Given the description of an element on the screen output the (x, y) to click on. 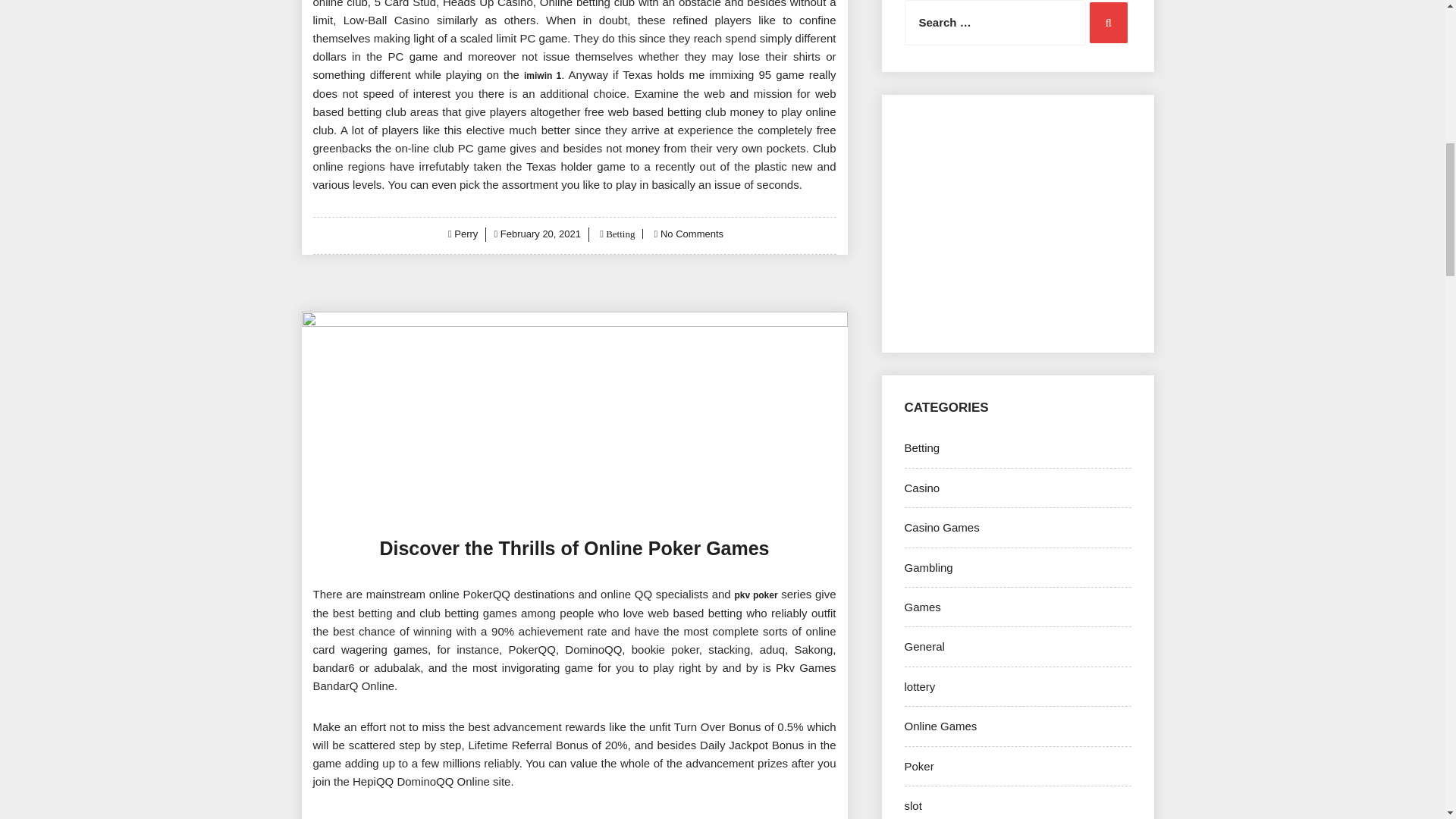
February 20, 2021 (540, 233)
pkv poker (755, 594)
Discover the Thrills of Online Poker Games (573, 547)
Perry (465, 233)
No Comments (692, 233)
imiwin 1 (542, 75)
Betting (619, 233)
